Given the description of an element on the screen output the (x, y) to click on. 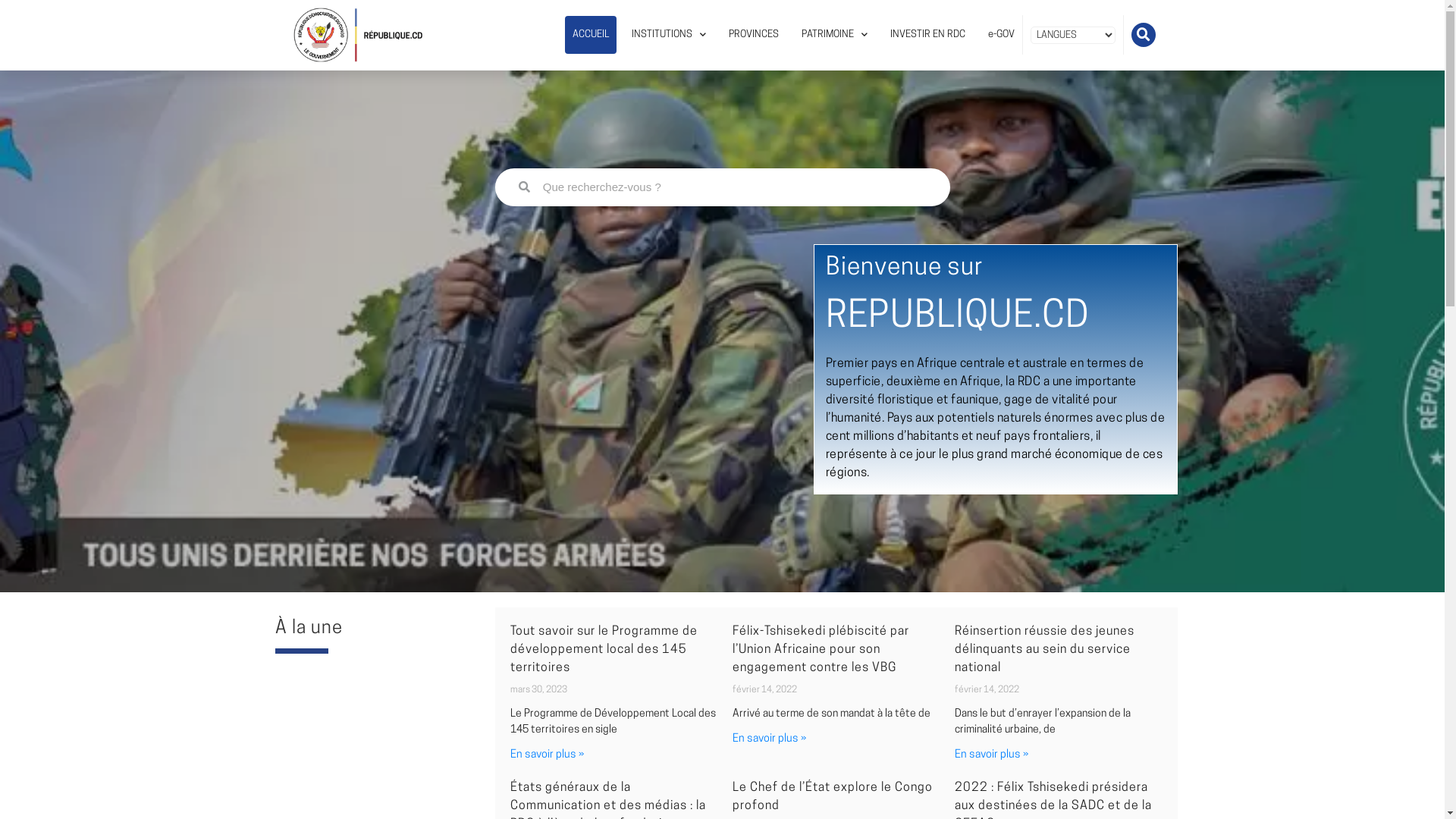
INVESTIR EN RDC Element type: text (927, 34)
INSTITUTIONS Element type: text (668, 34)
e-GOV Element type: text (1001, 34)
PATRIMOINE Element type: text (834, 34)
Rechercher  Element type: hover (734, 186)
ACCUEIL Element type: text (590, 34)
PROVINCES Element type: text (753, 34)
